Given the description of an element on the screen output the (x, y) to click on. 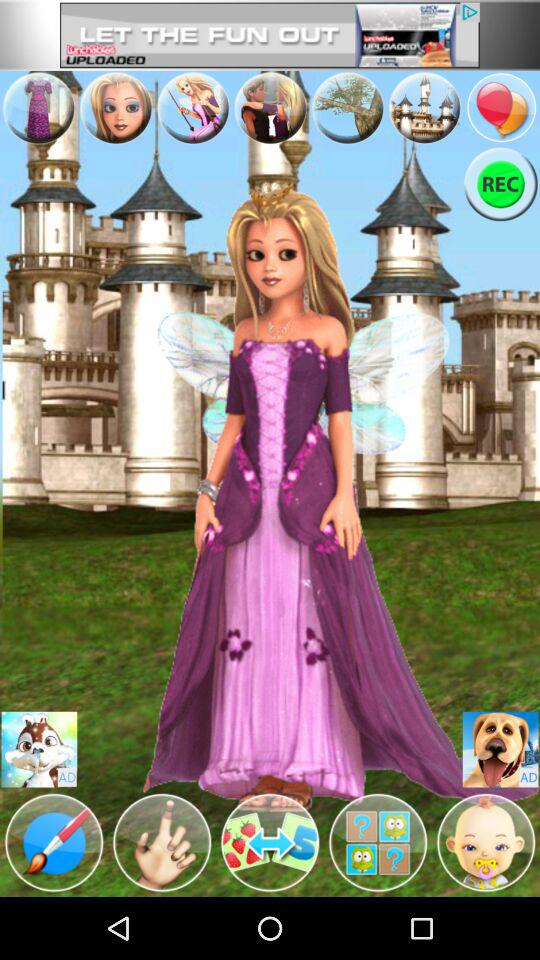
game options (162, 843)
